Given the description of an element on the screen output the (x, y) to click on. 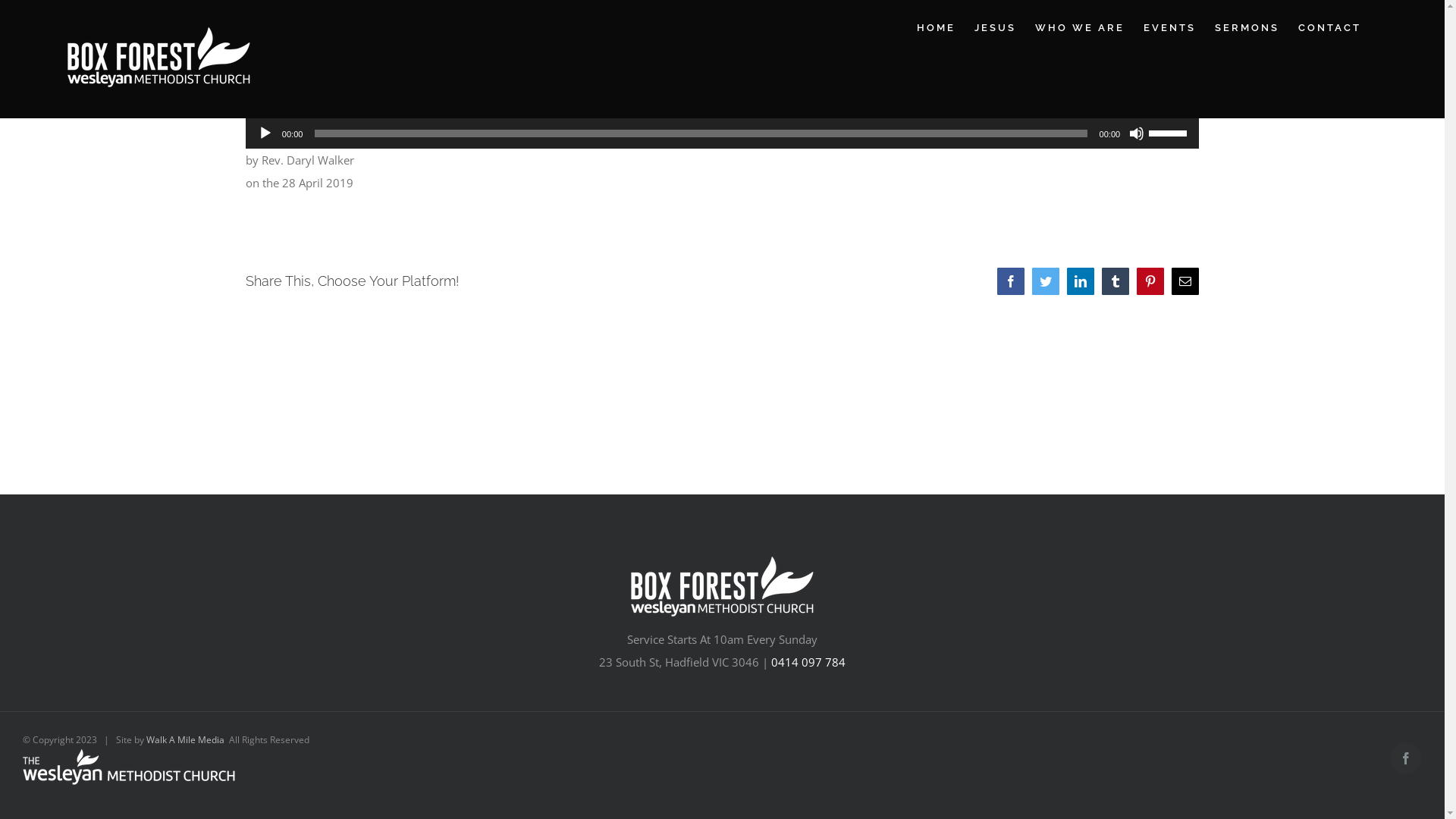
WHO WE ARE Element type: text (1079, 27)
JESUS Element type: text (995, 27)
CONTACT Element type: text (1329, 27)
Tumblr Element type: text (1115, 280)
Use Up/Down Arrow keys to increase or decrease volume. Element type: text (1169, 131)
Play Element type: hover (265, 133)
SERMONS Element type: text (1246, 27)
0414 097 784 Element type: text (808, 661)
Facebook Element type: text (1010, 280)
LinkedIn Element type: text (1080, 280)
Pinterest Element type: text (1150, 280)
Facebook Element type: text (1405, 757)
Mute Element type: hover (1136, 133)
HOME Element type: text (935, 27)
Email Element type: text (1184, 280)
Walk A Mile Media Element type: text (185, 739)
Twitter Element type: text (1045, 280)
EVENTS Element type: text (1169, 27)
